Given the description of an element on the screen output the (x, y) to click on. 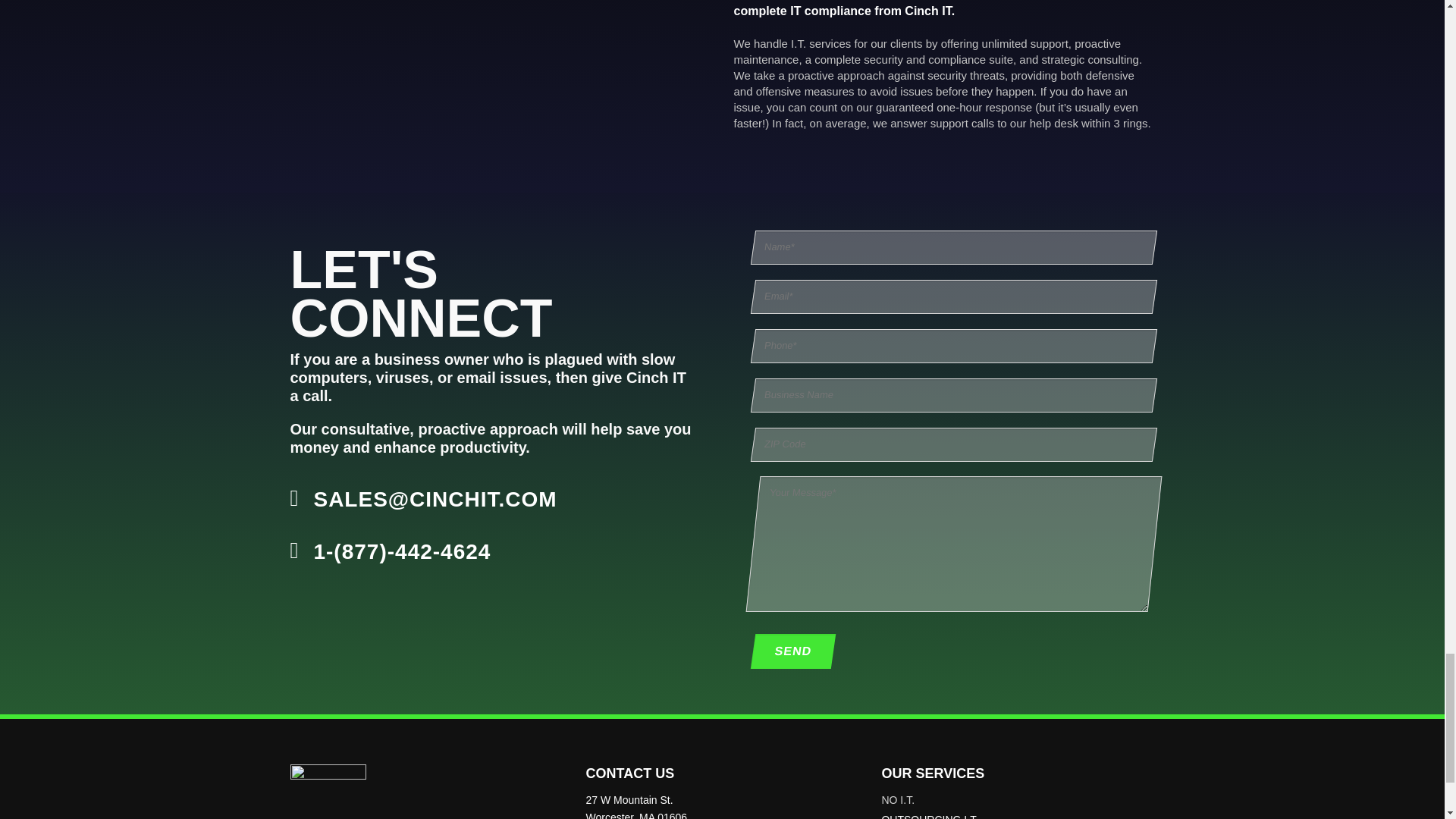
OUTSOURCING I.T. (1017, 815)
SEND (789, 651)
NO I.T. (1017, 799)
SEND (789, 651)
